Given the description of an element on the screen output the (x, y) to click on. 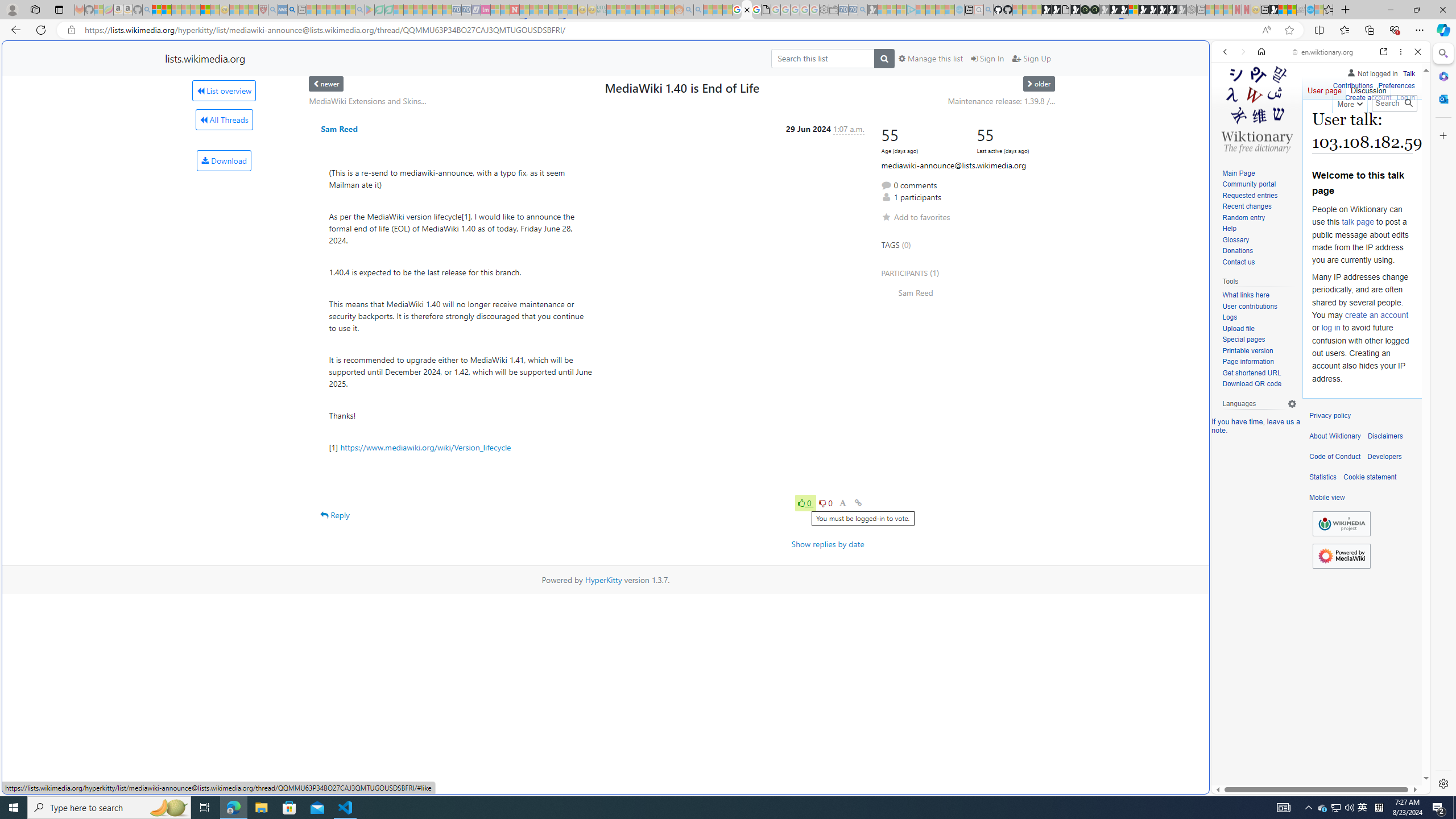
Wiktionary (1315, 380)
talk page (1357, 221)
AutomationID: footer-poweredbyico (1341, 555)
Glossary (1259, 240)
Logs (1259, 317)
Main Page (1259, 173)
User contributions (1248, 306)
Contributions (1352, 85)
